Given the description of an element on the screen output the (x, y) to click on. 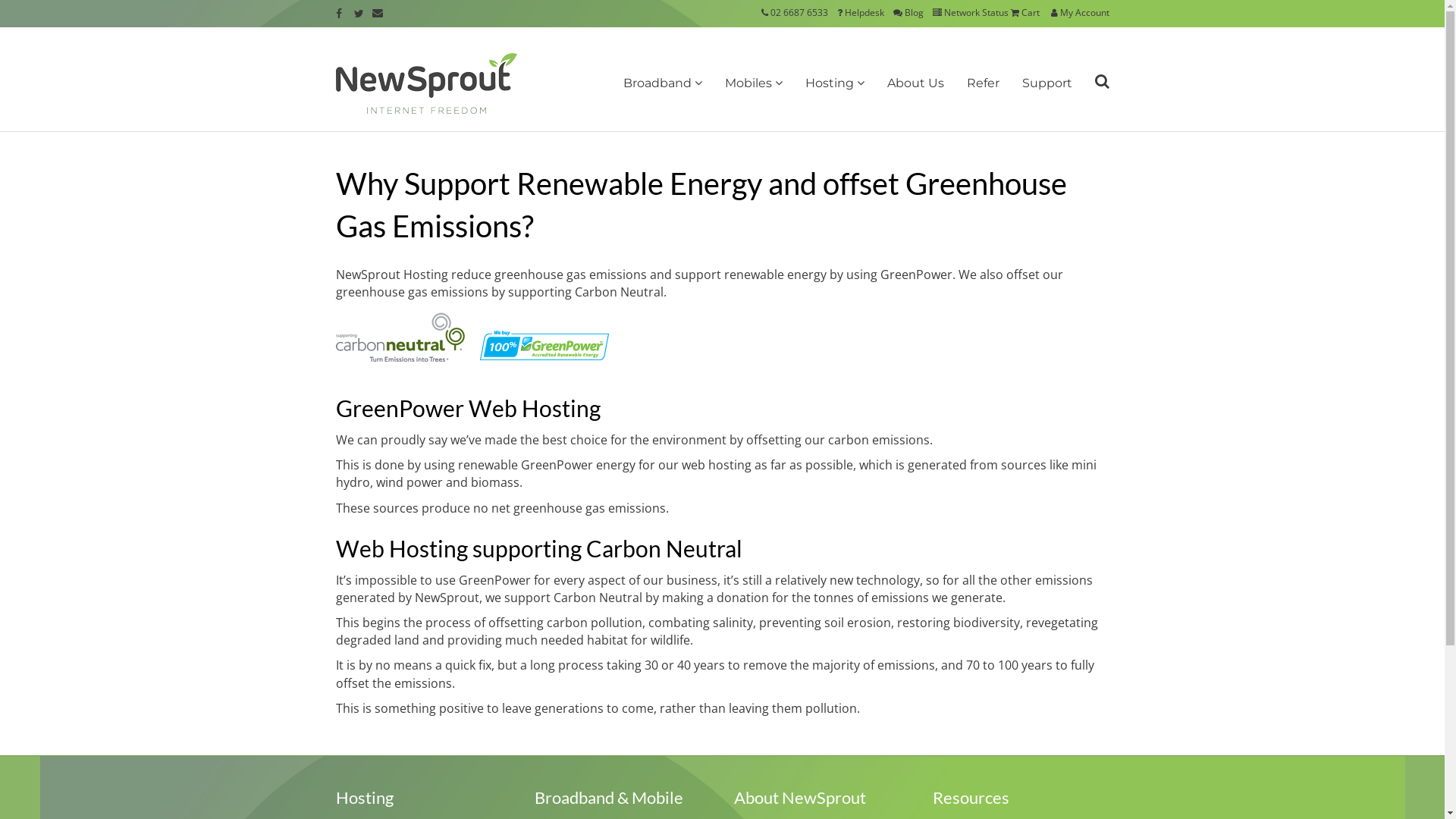
My Account Element type: text (1078, 12)
Broadband Element type: text (661, 83)
Cart Element type: text (1023, 12)
Network Status Element type: text (970, 12)
Mobiles Element type: text (752, 83)
About Us Element type: text (914, 83)
02 6687 6533 Element type: text (799, 12)
Helpdesk Element type: text (860, 12)
Blog Element type: text (908, 12)
Refer Element type: text (982, 83)
Hosting Element type: text (834, 83)
Support Element type: text (1046, 83)
